Given the description of an element on the screen output the (x, y) to click on. 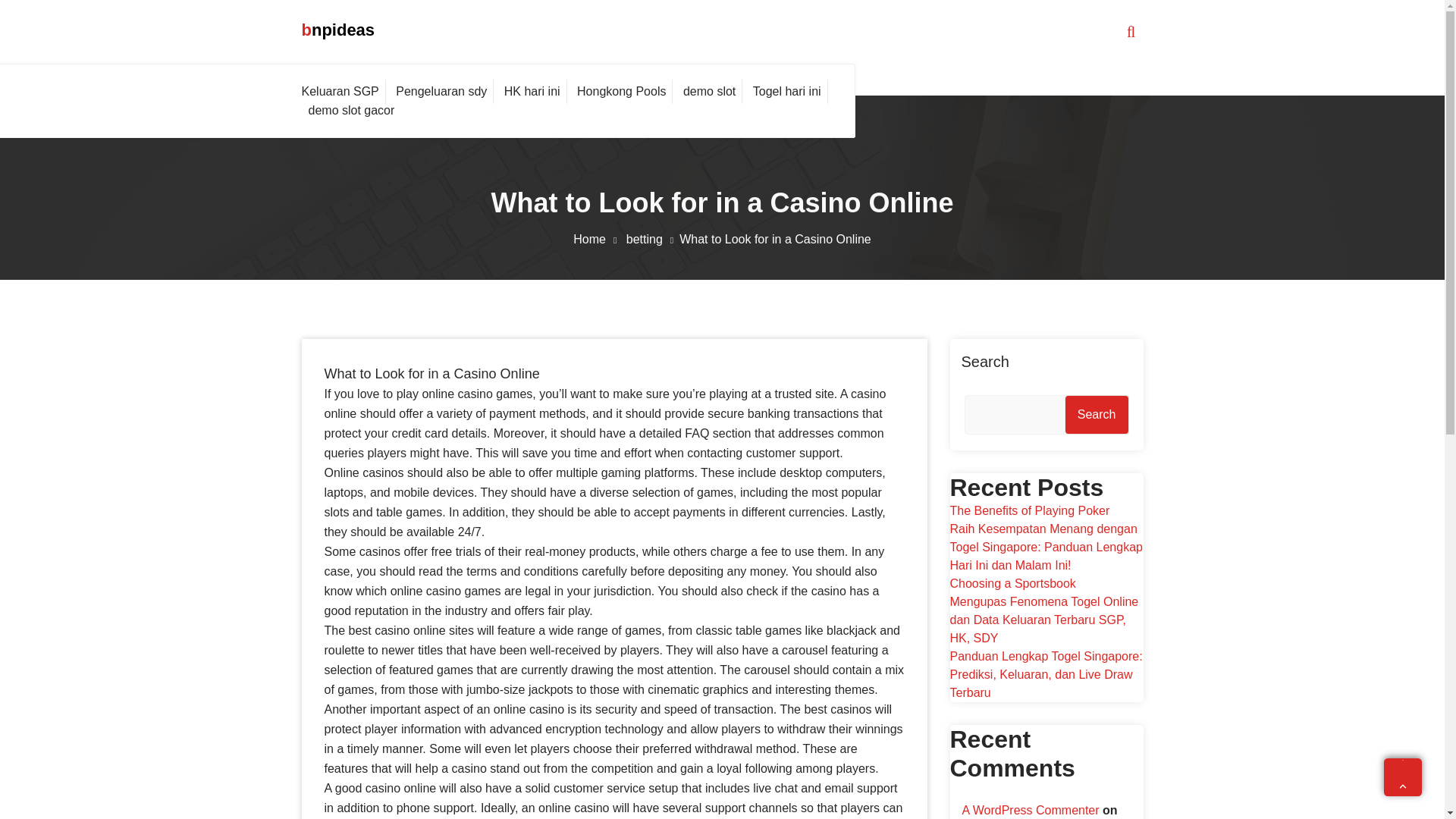
demo slot (709, 91)
Togel hari ini (786, 91)
Hongkong Pools (621, 91)
Home (598, 238)
Togel hari ini (786, 91)
betting (652, 238)
HK hari ini (532, 91)
Choosing a Sportsbook (1012, 583)
